Given the description of an element on the screen output the (x, y) to click on. 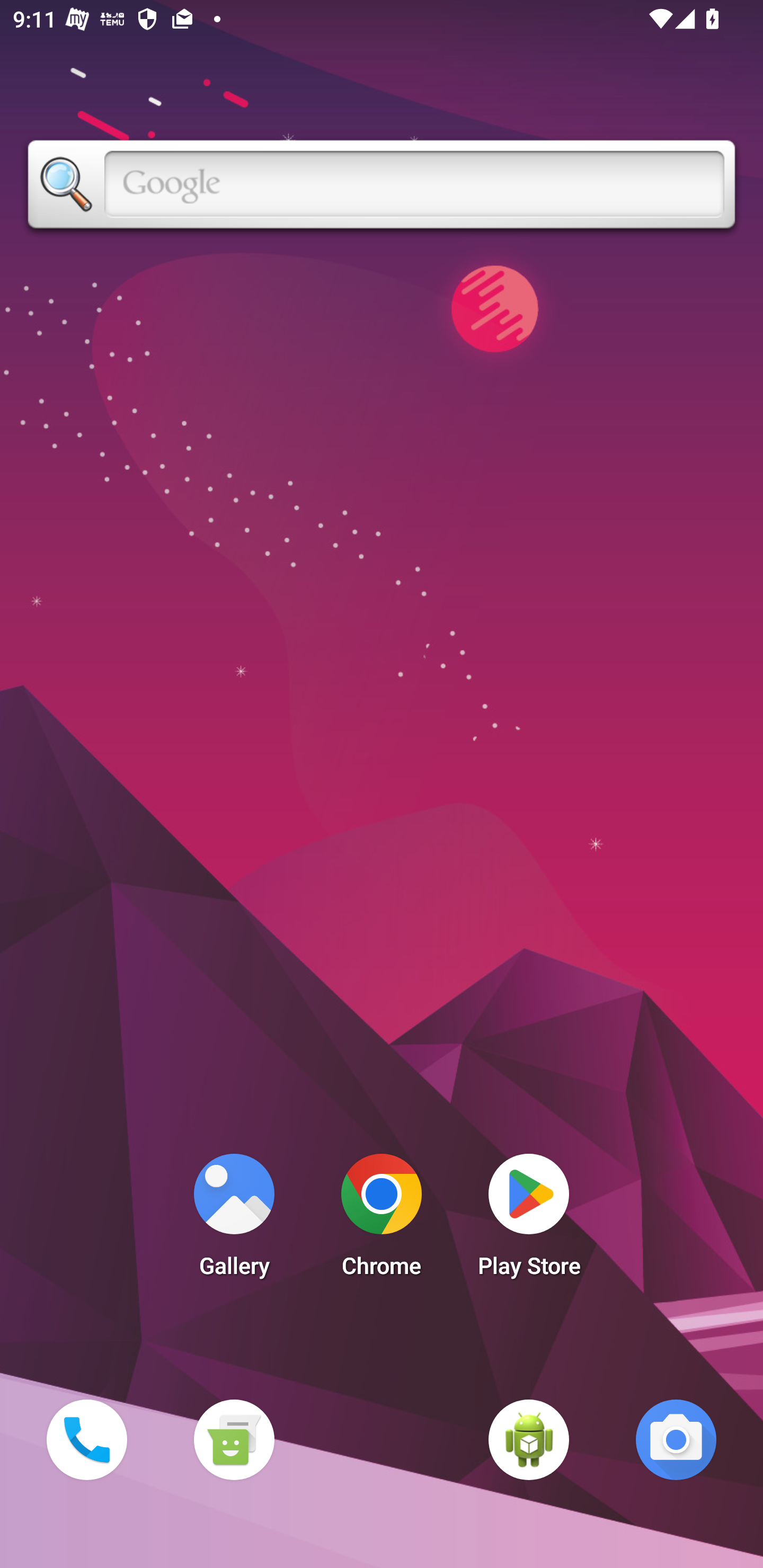
Gallery (233, 1220)
Chrome (381, 1220)
Play Store (528, 1220)
Phone (86, 1439)
Messaging (233, 1439)
WebView Browser Tester (528, 1439)
Camera (676, 1439)
